Given the description of an element on the screen output the (x, y) to click on. 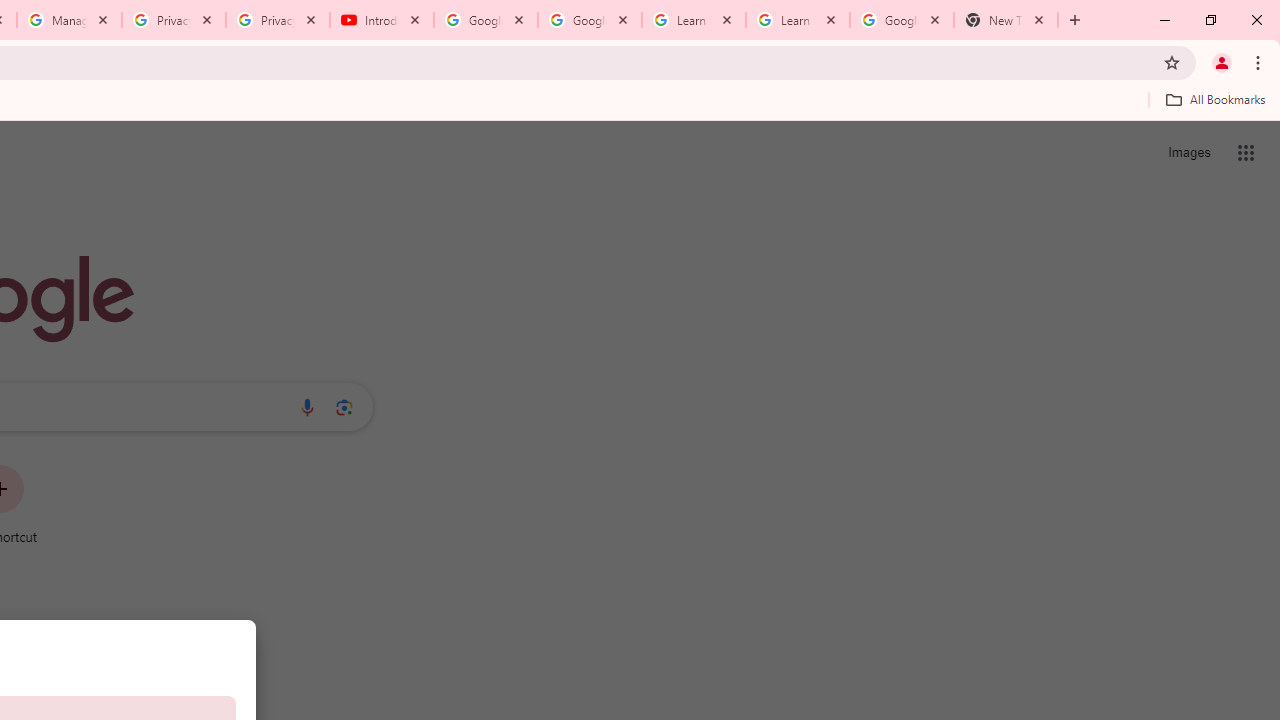
Google Account (901, 20)
